Given the description of an element on the screen output the (x, y) to click on. 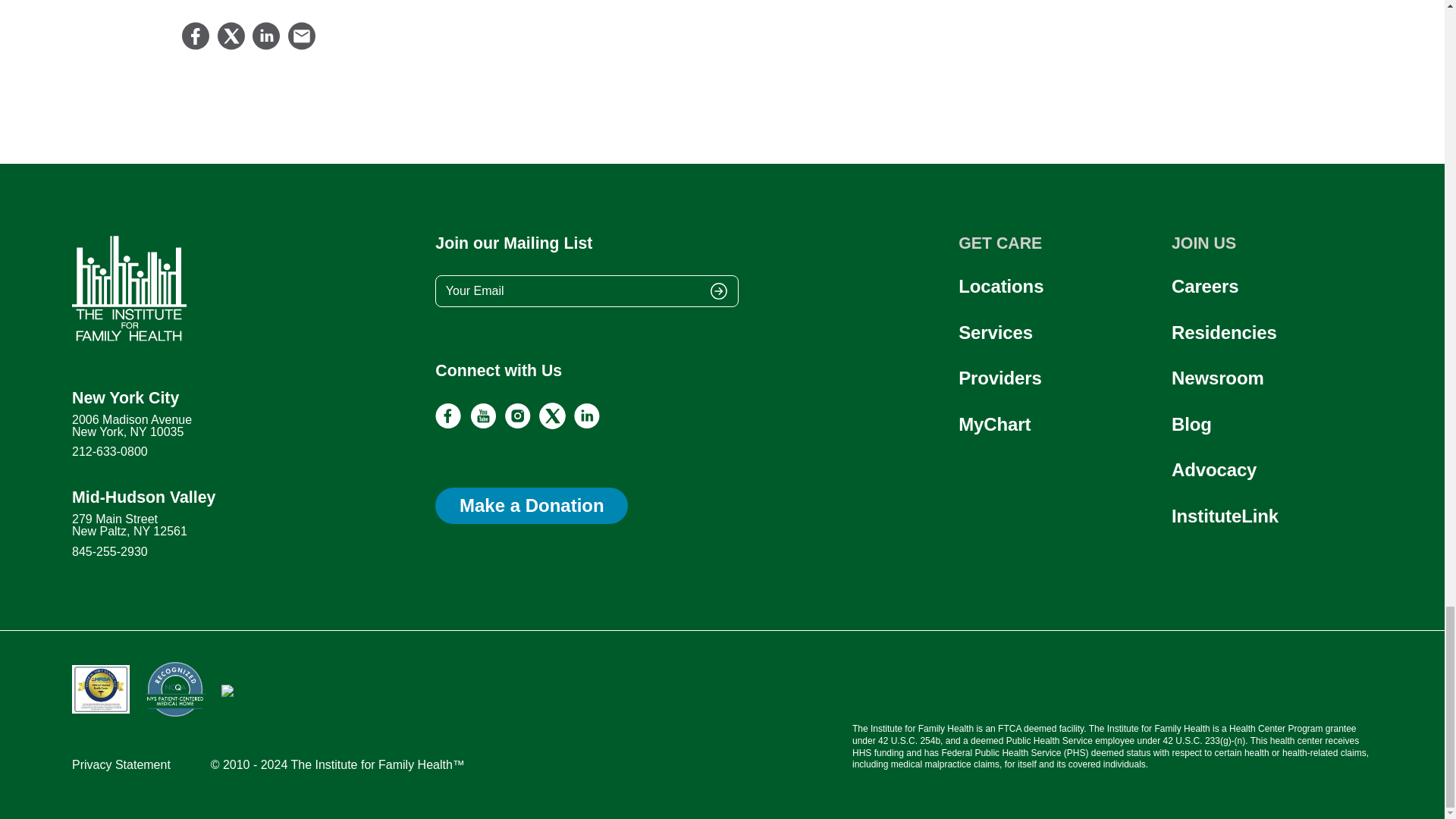
youtube (483, 424)
linkedin (586, 424)
facebook (448, 424)
twitter (552, 424)
instagram (517, 424)
